Given the description of an element on the screen output the (x, y) to click on. 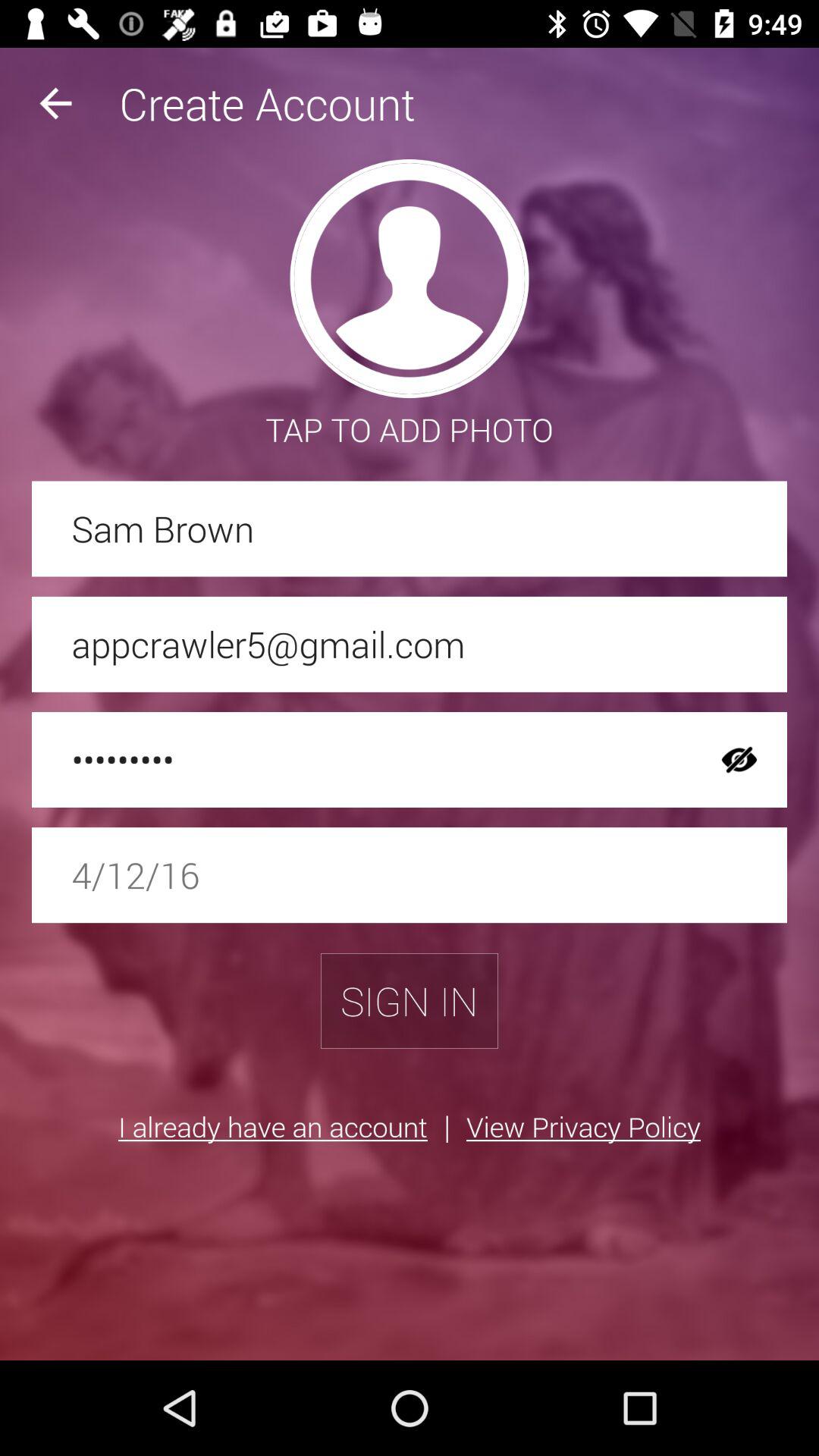
open app to the left of the create account app (55, 103)
